Given the description of an element on the screen output the (x, y) to click on. 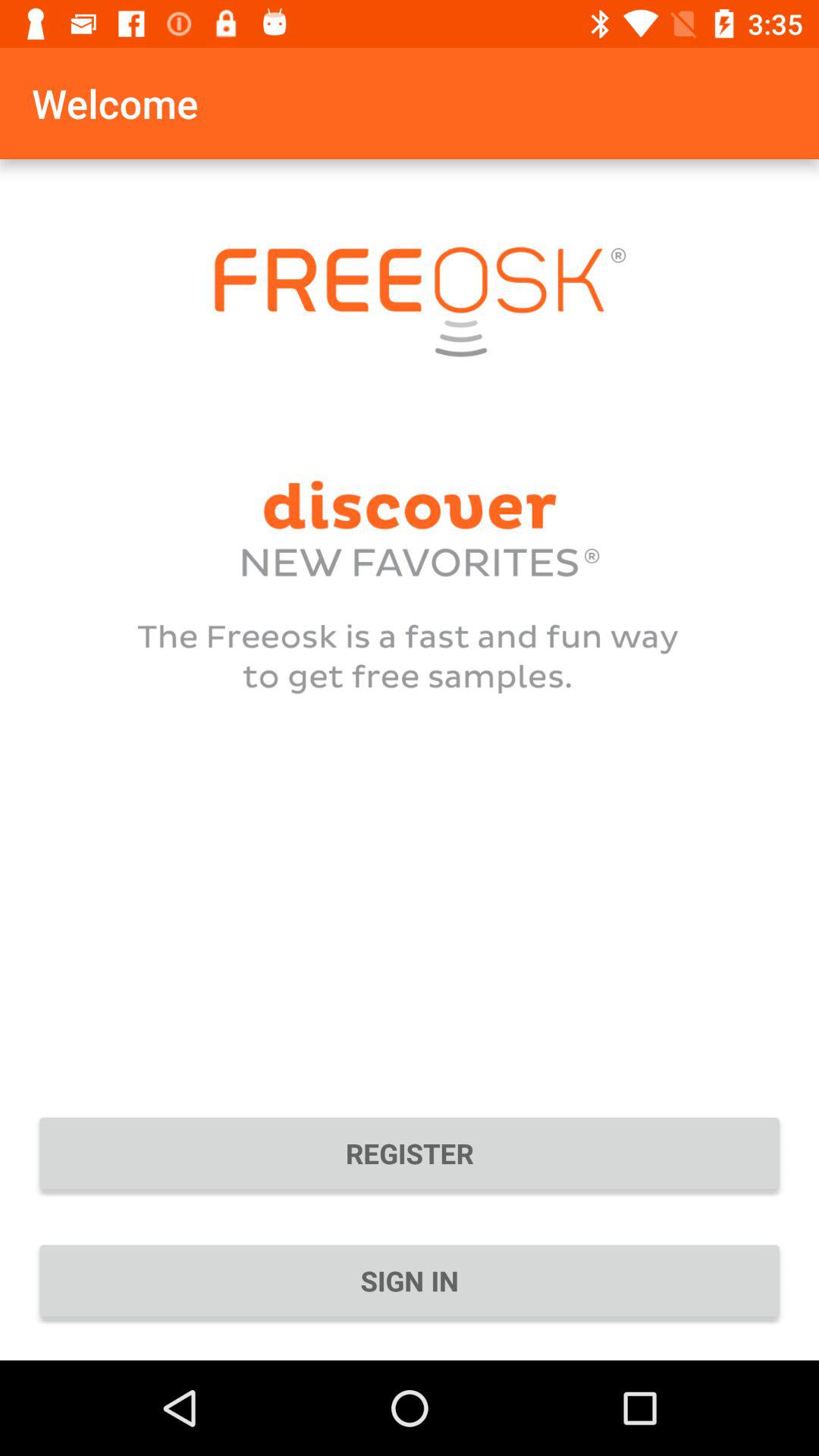
choose icon below the welcome (409, 1153)
